Given the description of an element on the screen output the (x, y) to click on. 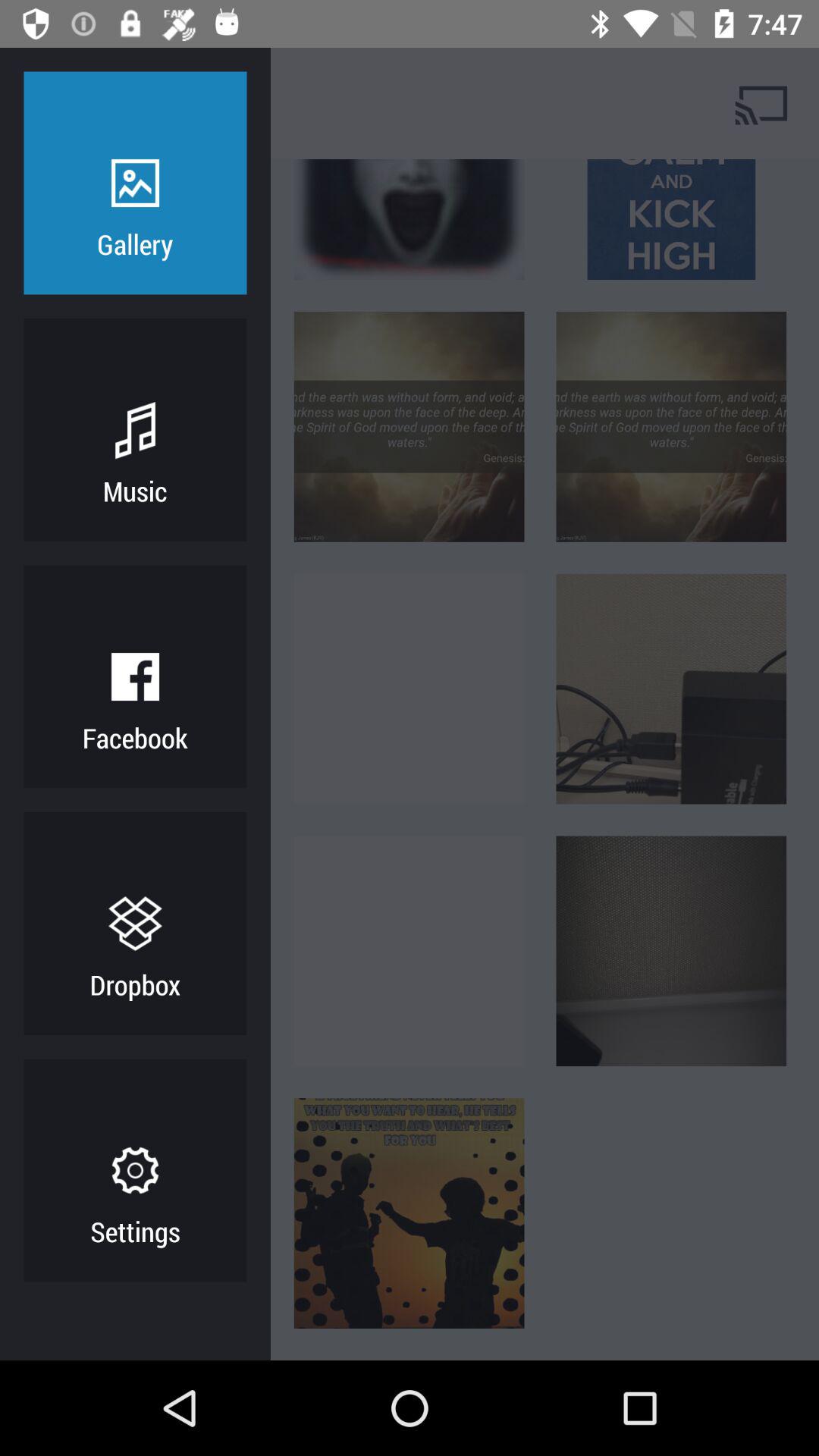
jump until the music (134, 490)
